Given the description of an element on the screen output the (x, y) to click on. 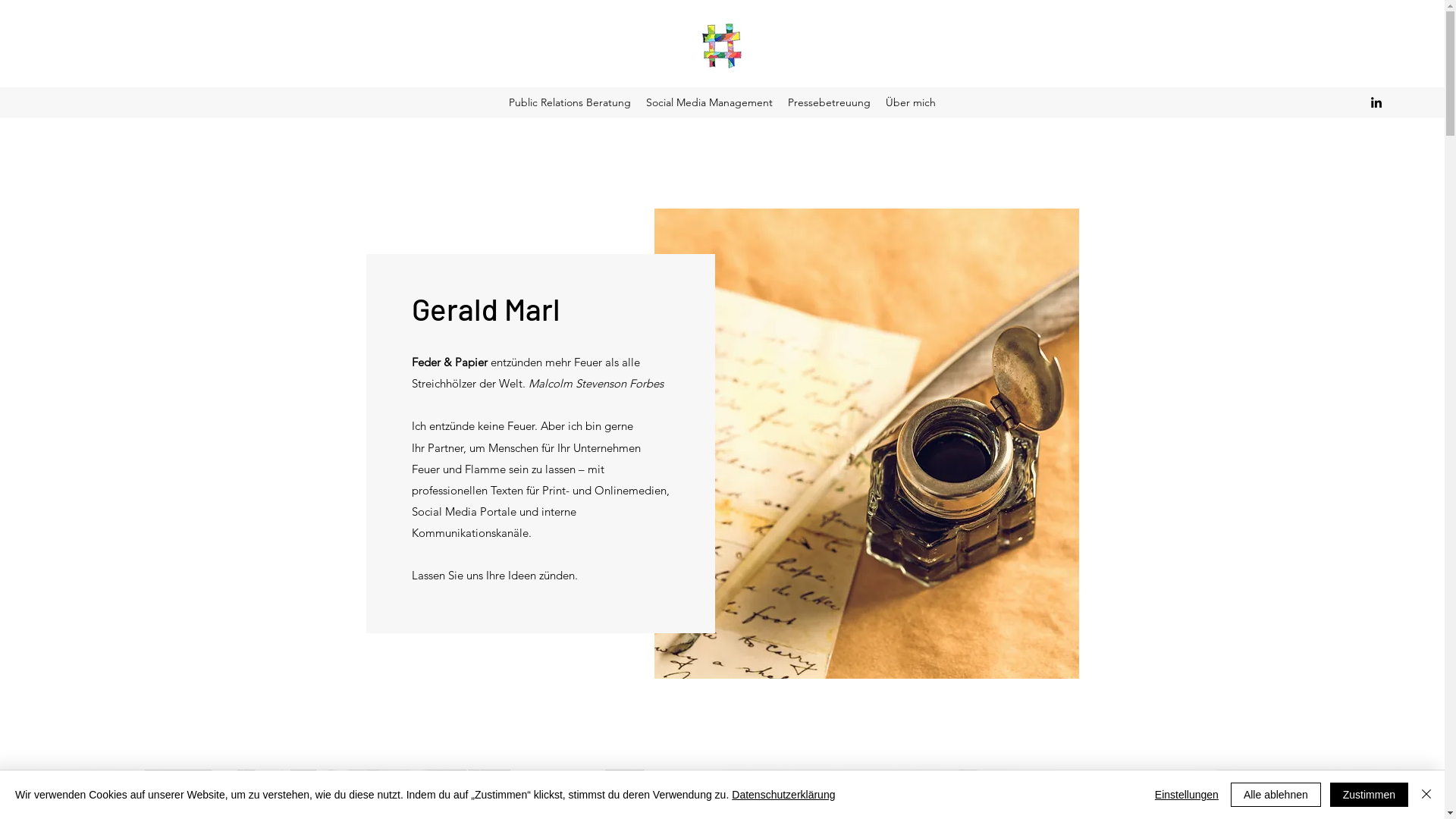
Social Media Management Element type: text (709, 102)
Public Relations Beratung Element type: text (569, 102)
Alle ablehnen Element type: text (1275, 794)
Zustimmen Element type: text (1369, 794)
Pressebetreuung Element type: text (829, 102)
